Given the description of an element on the screen output the (x, y) to click on. 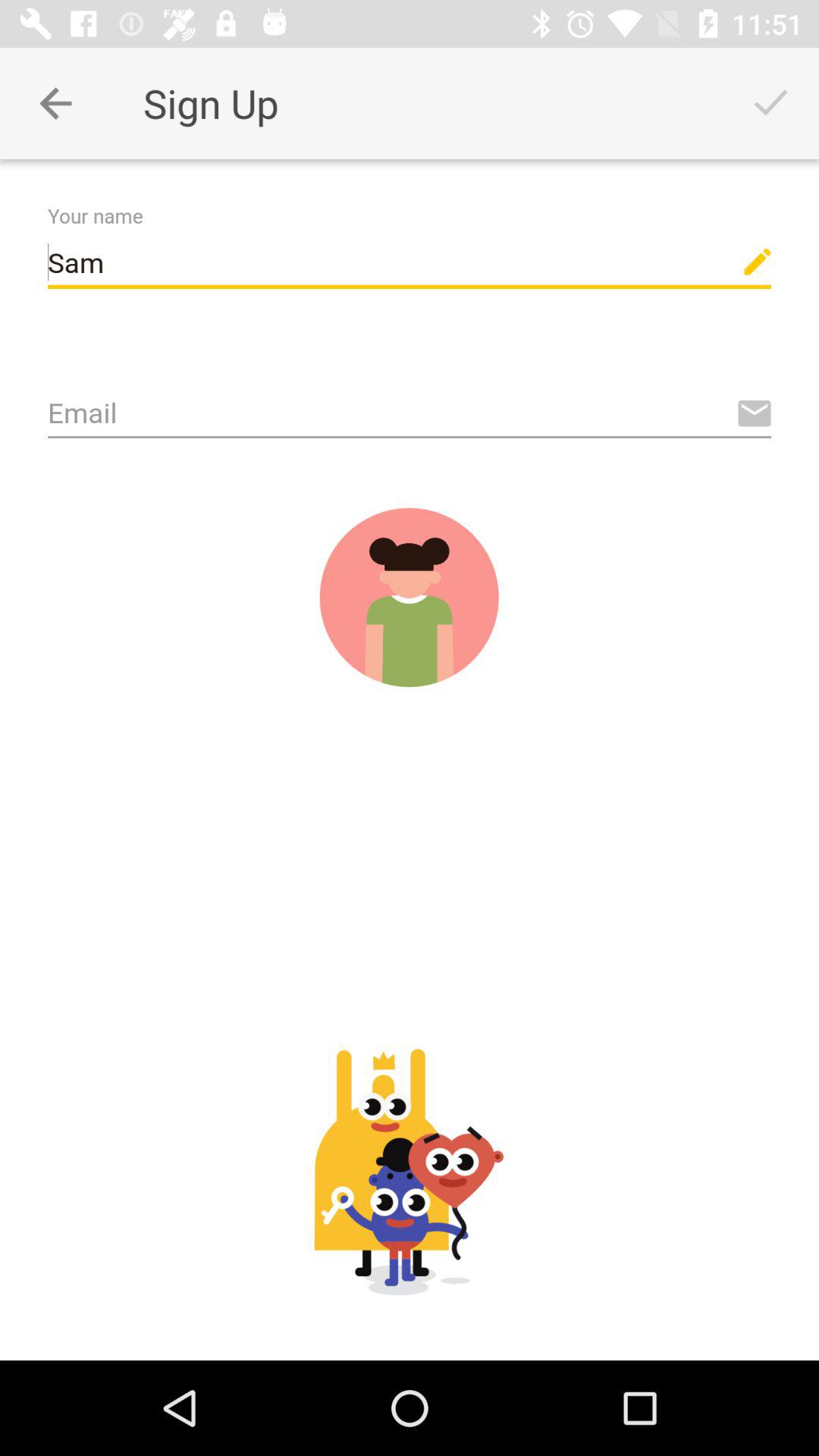
change profile picture (408, 597)
